Given the description of an element on the screen output the (x, y) to click on. 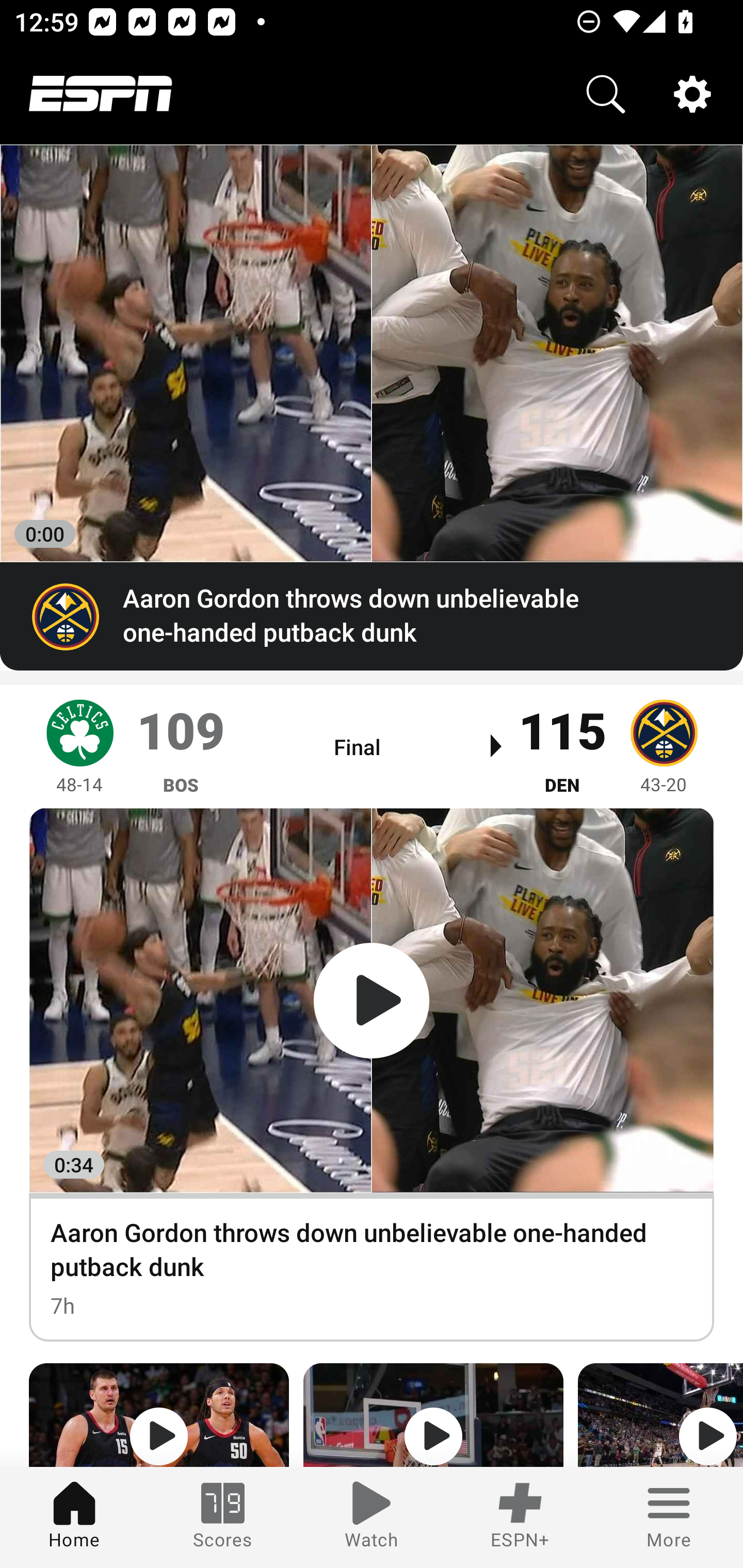
Search (605, 93)
Settings (692, 93)
 (158, 1414)
 (433, 1414)
Scores (222, 1517)
Watch (371, 1517)
ESPN+ (519, 1517)
More (668, 1517)
